Given the description of an element on the screen output the (x, y) to click on. 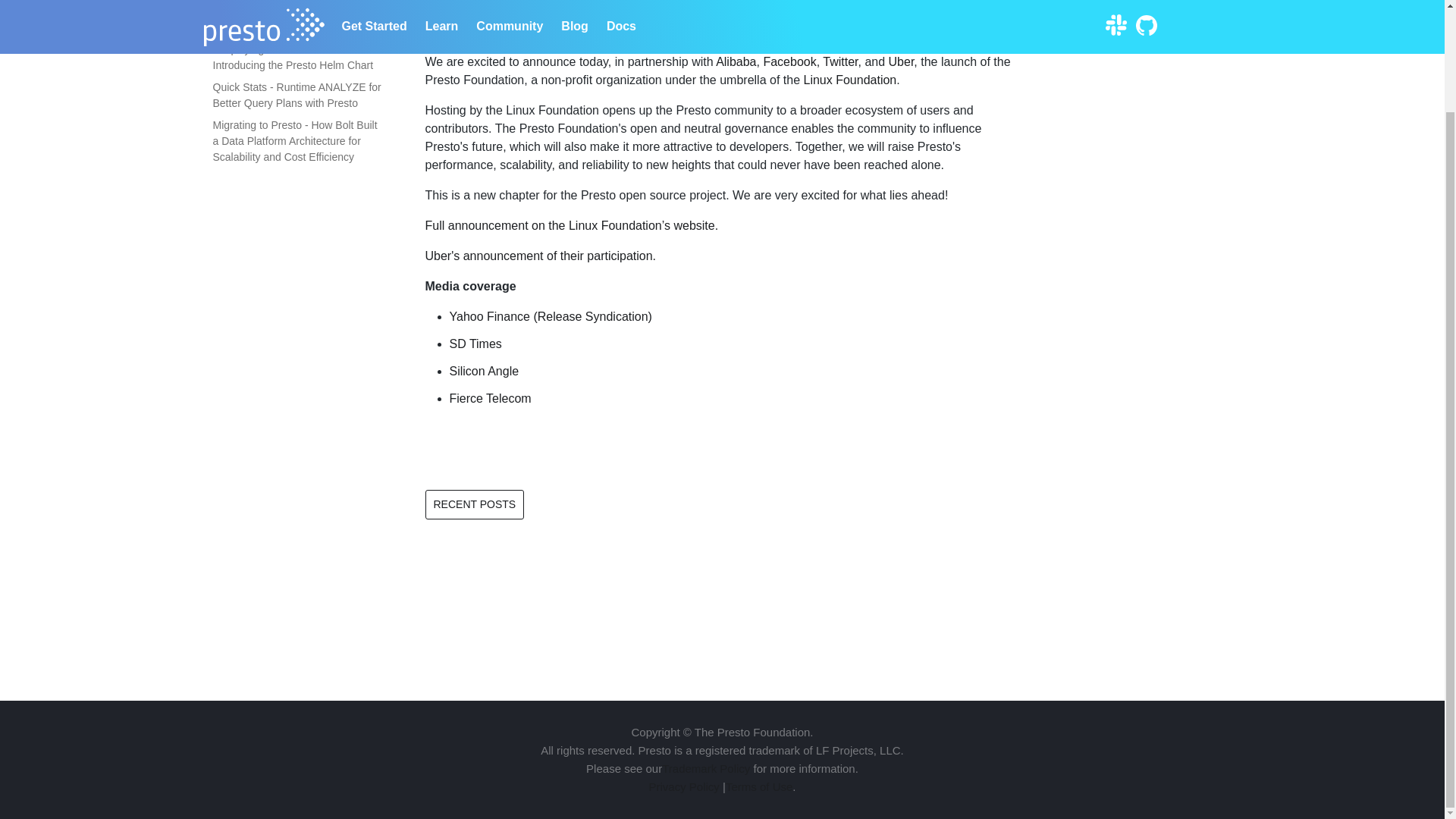
Twitter (839, 61)
Trademark Policy (705, 768)
Silicon Angle (483, 370)
Ariel Weisberg (459, 28)
Fierce Telecom (489, 398)
Linux Foundation (849, 79)
Uber's announcement of their participation. (540, 255)
Terms of Use (758, 786)
SD Times (474, 343)
Privacy Policy (684, 786)
